Given the description of an element on the screen output the (x, y) to click on. 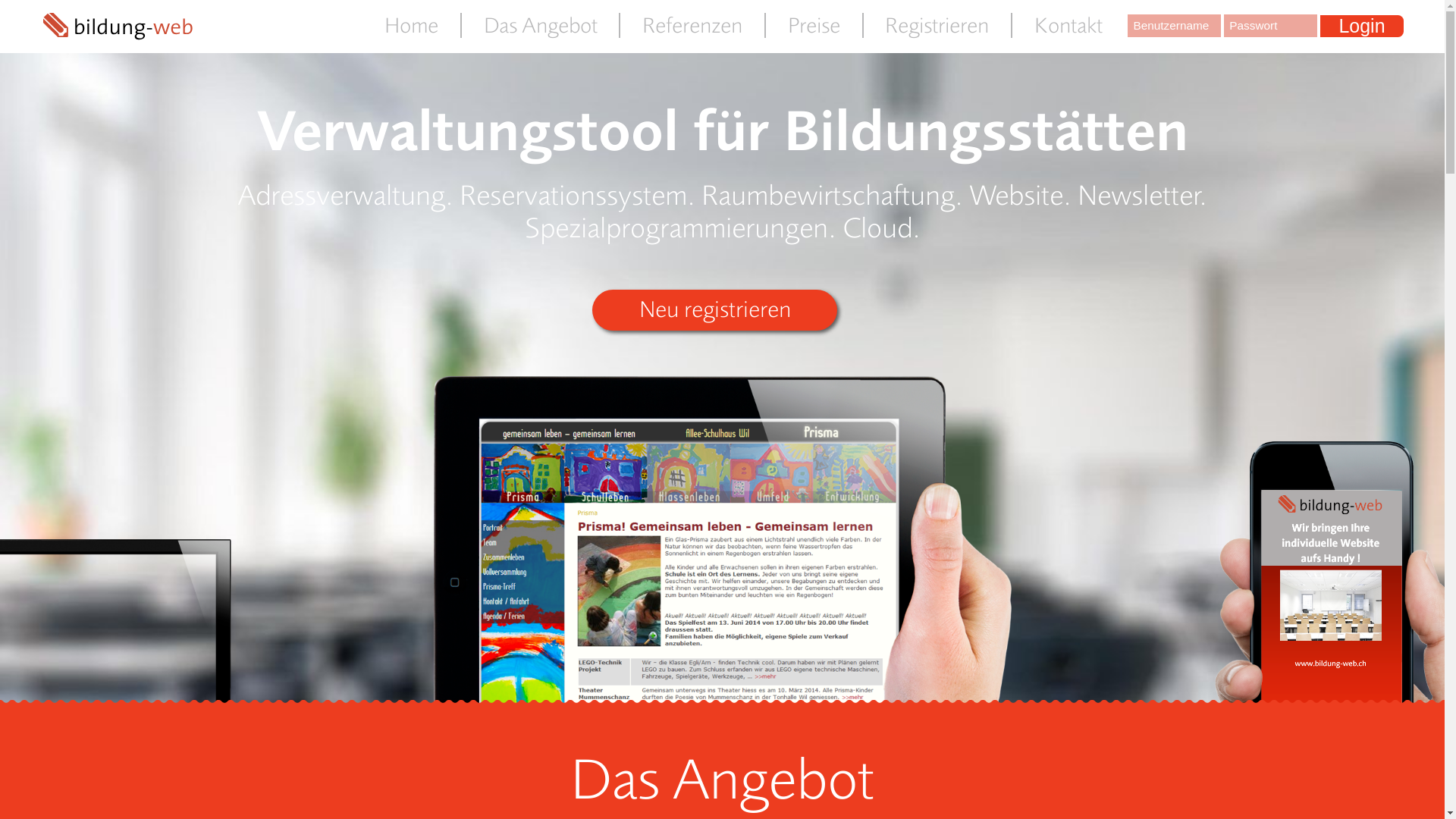
Registrieren Element type: text (936, 24)
Das Angebot Element type: text (539, 24)
Home Element type: text (411, 24)
Login Element type: text (1362, 26)
Neu registrieren Element type: text (714, 309)
Anmelden Element type: text (707, 233)
Preise Element type: text (813, 24)
Kontakt Element type: text (1067, 24)
Referenzen Element type: text (691, 24)
